Given the description of an element on the screen output the (x, y) to click on. 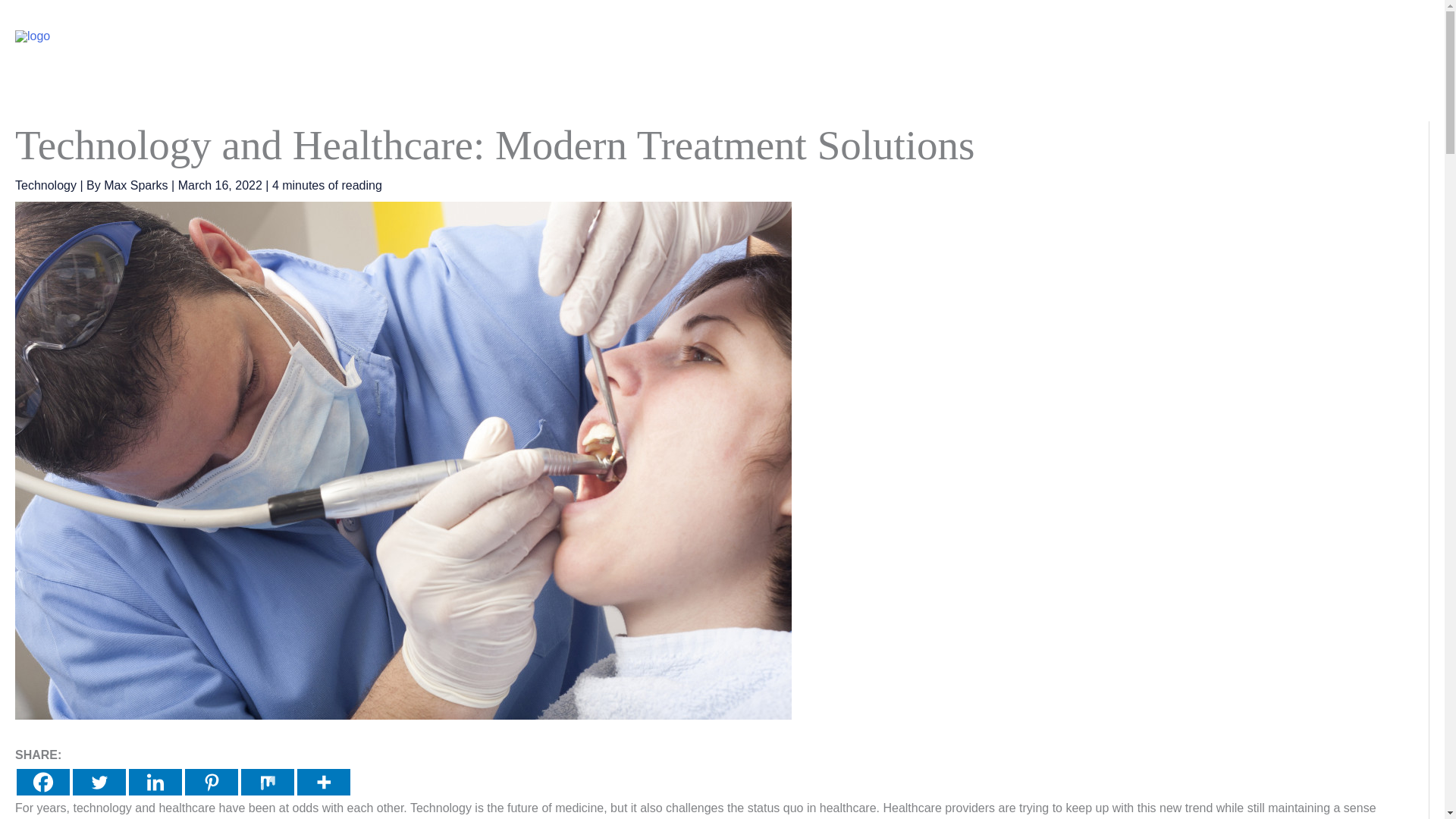
Mix (267, 782)
Technology (1101, 36)
Business (1015, 36)
Pinterest (211, 782)
Technology (45, 185)
Max Sparks (137, 185)
More (323, 782)
Facebook (42, 782)
View all posts by Max Sparks (137, 185)
Twitter (98, 782)
Linkedin (155, 782)
